Given the description of an element on the screen output the (x, y) to click on. 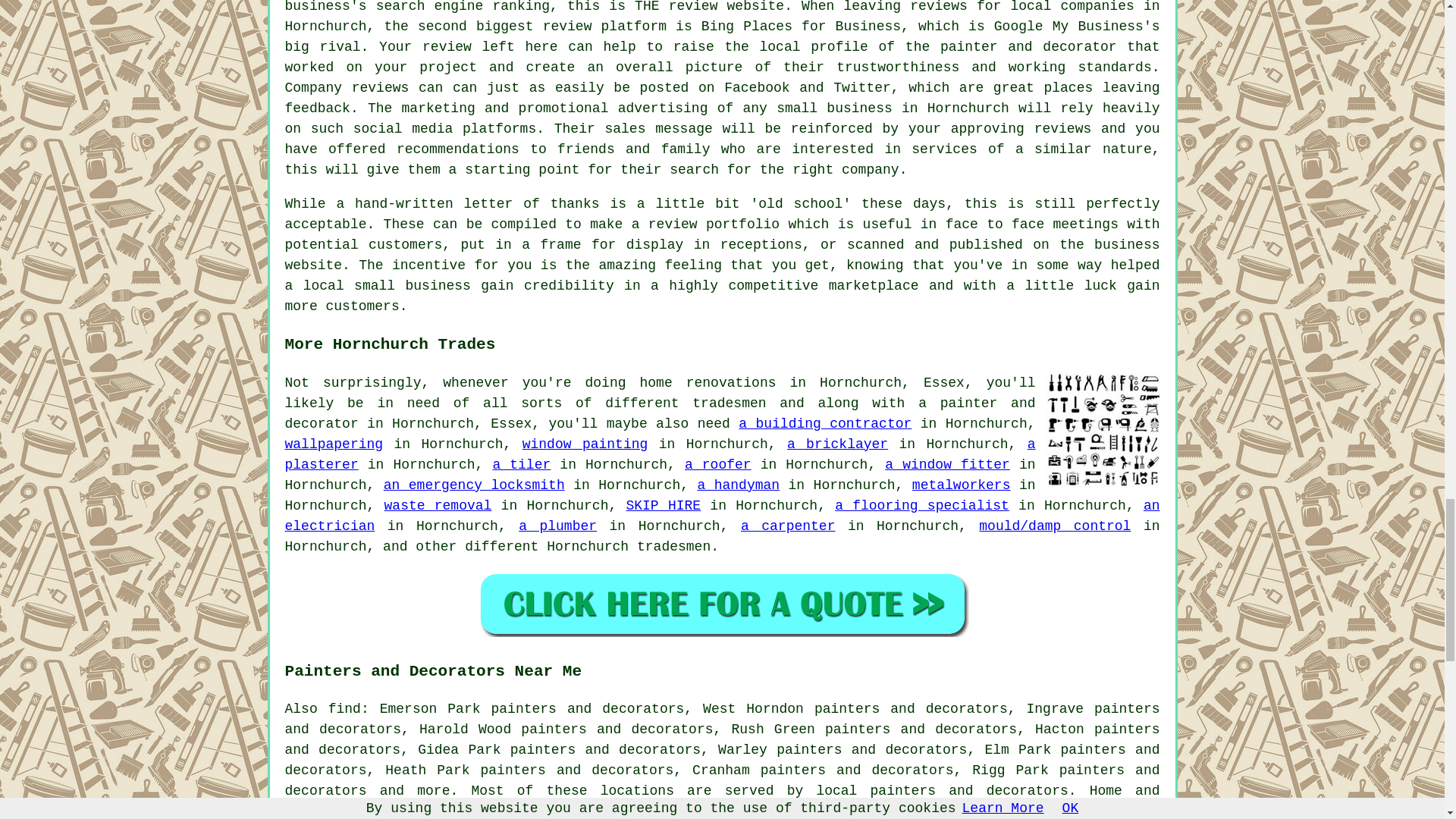
decorators (1027, 790)
a painter and decorator (660, 413)
More Hornchurch Tradesmen (1103, 429)
decorating (800, 811)
